Given the description of an element on the screen output the (x, y) to click on. 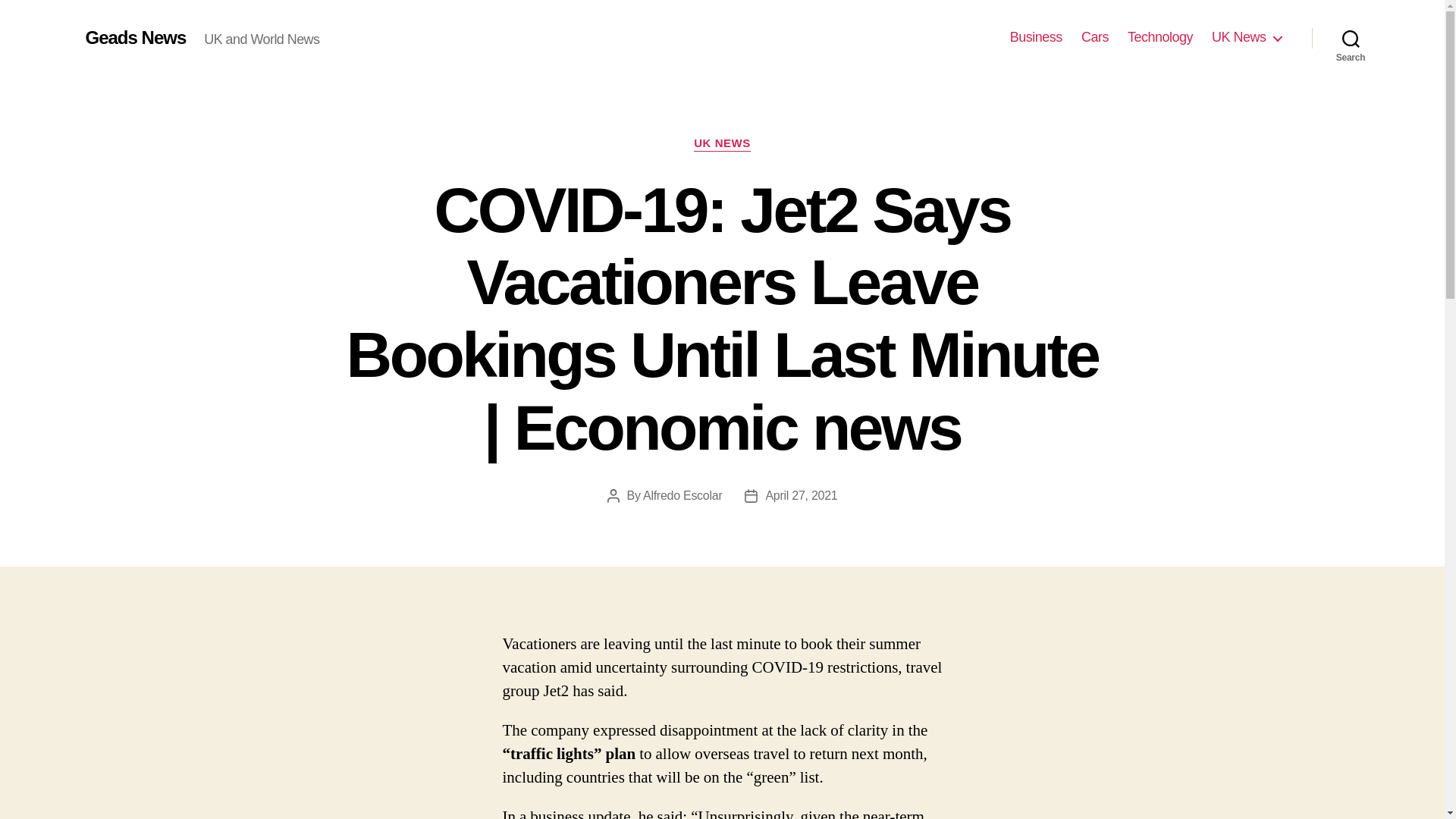
Technology (1159, 37)
Business (1036, 37)
UK NEWS (722, 143)
UK News (1246, 37)
Geads News (135, 37)
Cars (1094, 37)
April 27, 2021 (801, 495)
Search (1350, 37)
Alfredo Escolar (682, 495)
